Given the description of an element on the screen output the (x, y) to click on. 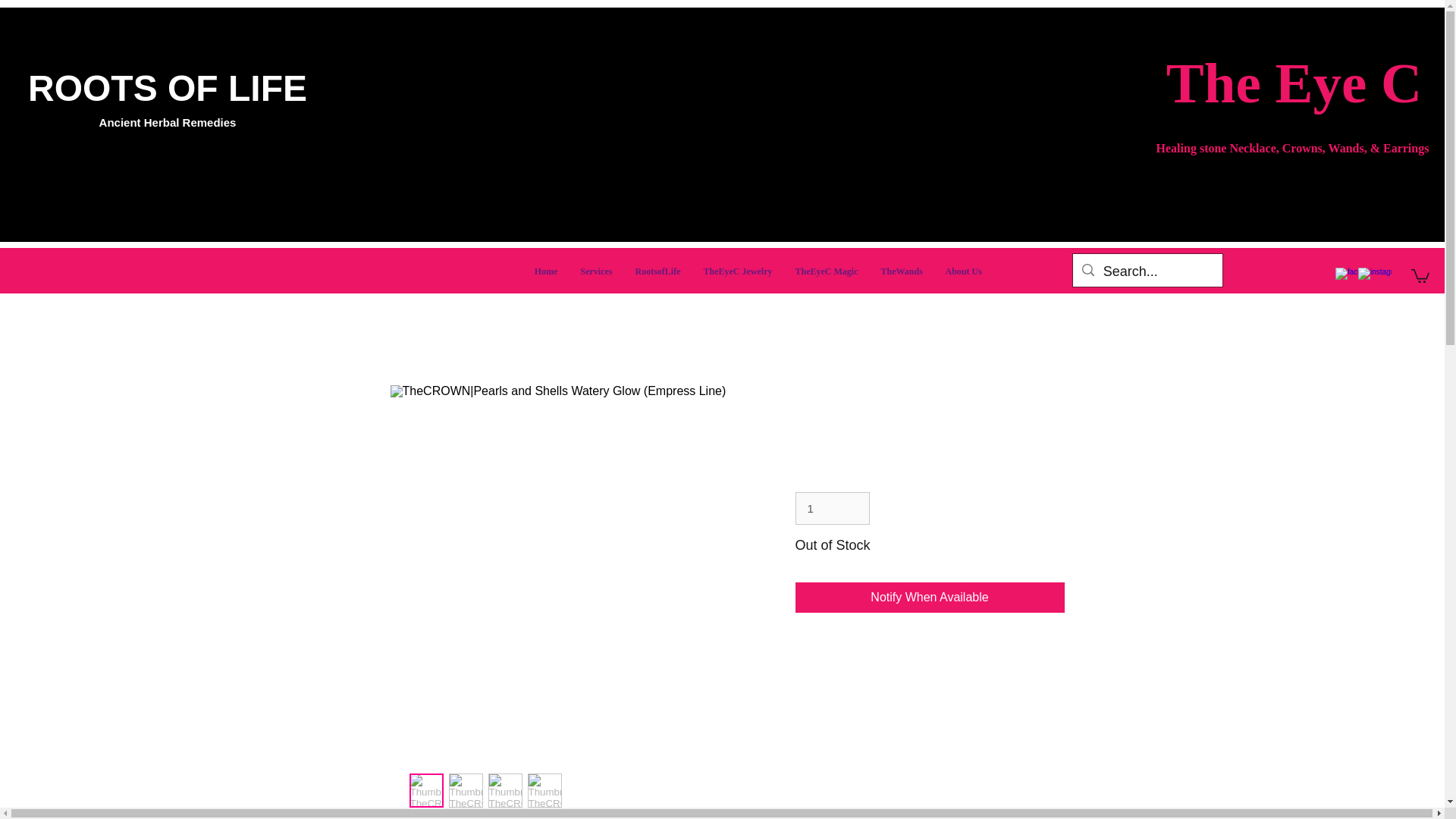
Services (596, 271)
TheEyeC Jewelry (737, 271)
Item Description (929, 661)
About Us (963, 271)
TheWands (901, 271)
Notify When Available (929, 597)
TheEyeC Magic (826, 271)
1 (831, 508)
Home (545, 271)
ROOTS OF LIFE (167, 87)
RootsofLife (657, 271)
